Given the description of an element on the screen output the (x, y) to click on. 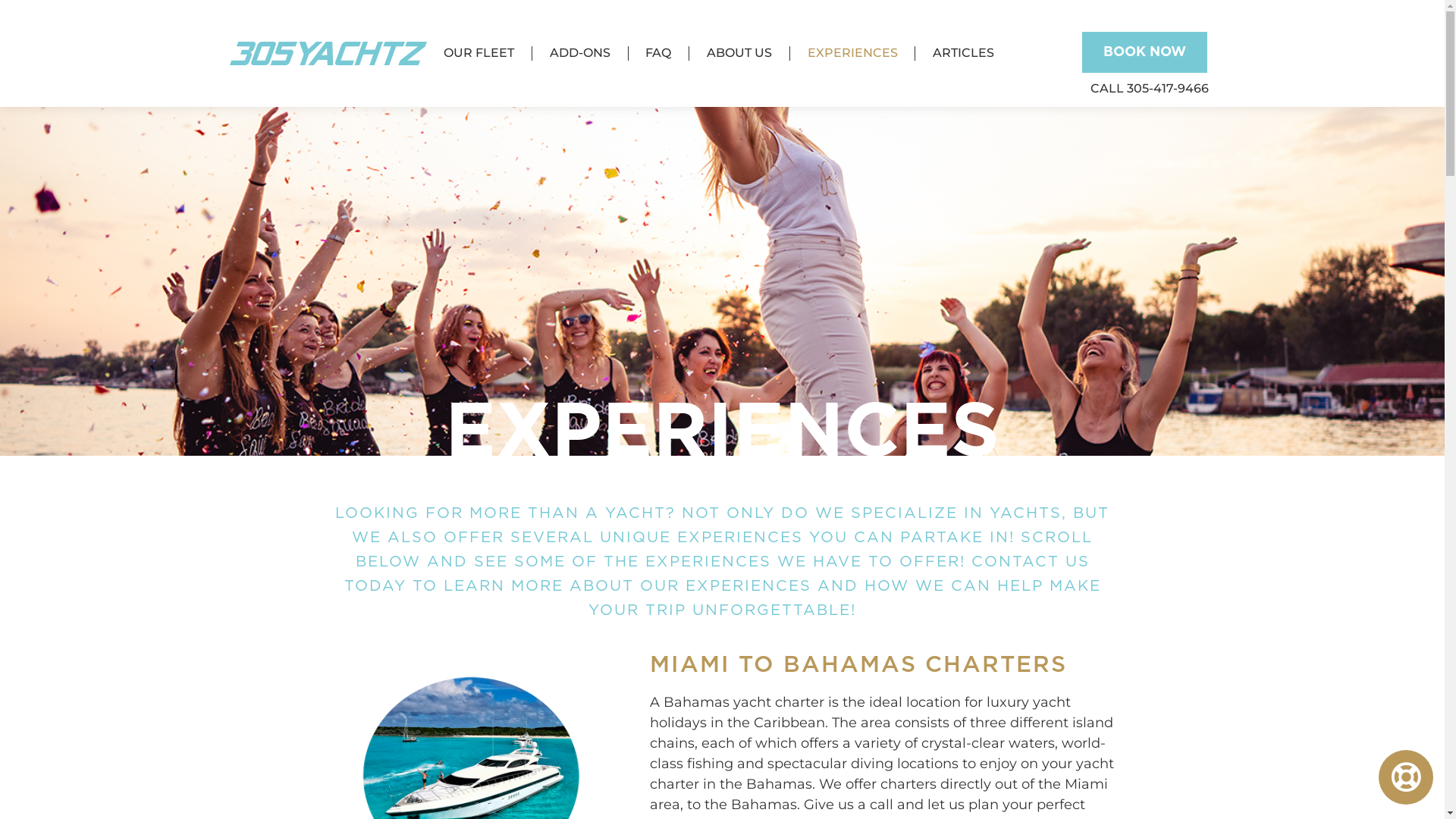
EXPERIENCES Element type: text (852, 52)
ABOUT US Element type: text (739, 52)
ARTICLES Element type: text (963, 52)
FAQ Element type: text (658, 52)
BOOK NOW Element type: text (1144, 52)
CALL 305-417-9466 Element type: text (1149, 88)
OUR FLEET Element type: text (478, 52)
ADD-ONS Element type: text (579, 52)
